Given the description of an element on the screen output the (x, y) to click on. 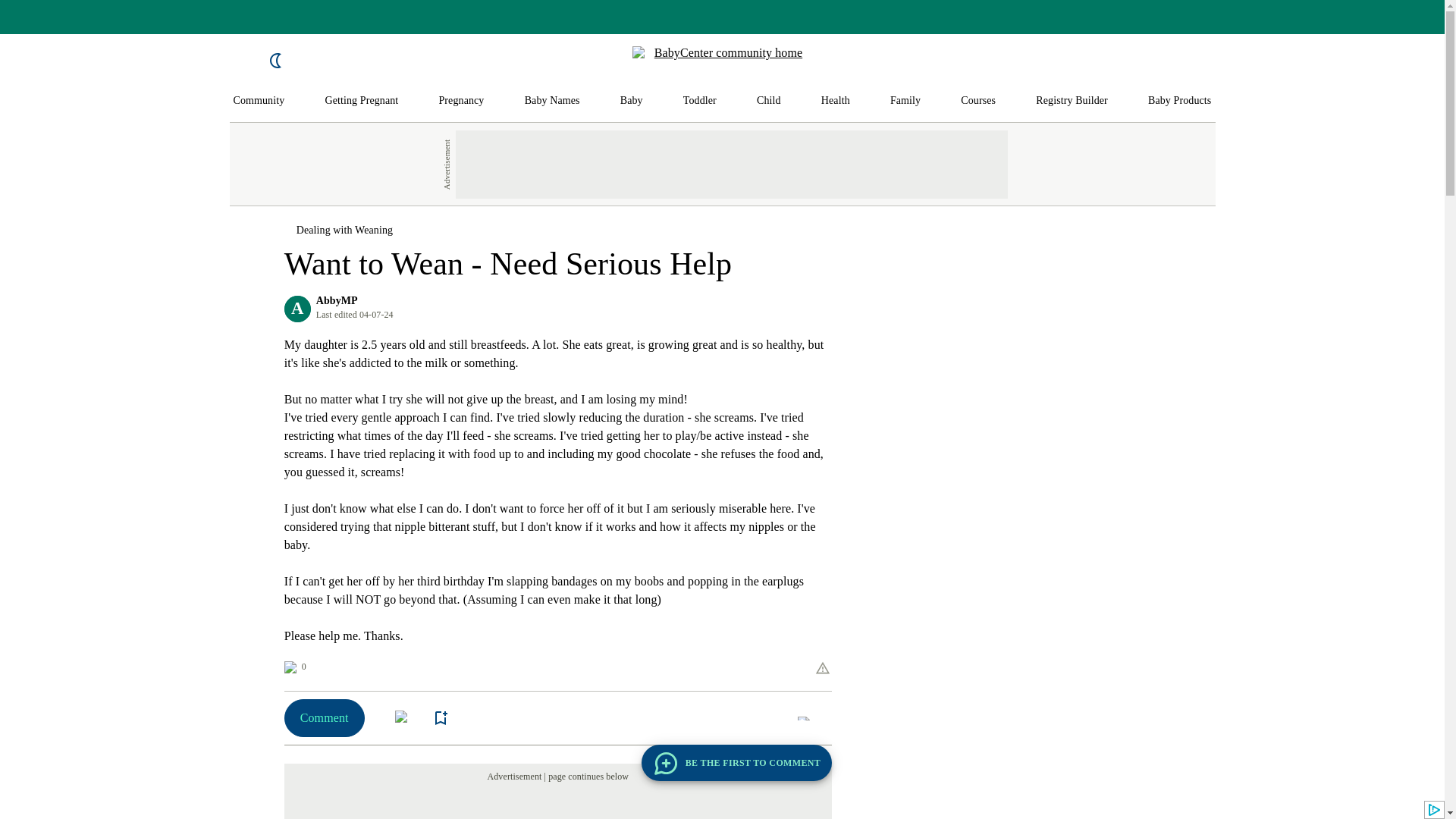
Registry Builder (1071, 101)
Child (768, 101)
Family (904, 101)
Courses (977, 101)
Health (835, 101)
Baby Products (1179, 101)
Pregnancy (460, 101)
Baby (631, 101)
Getting Pregnant (360, 101)
Community (258, 101)
